Given the description of an element on the screen output the (x, y) to click on. 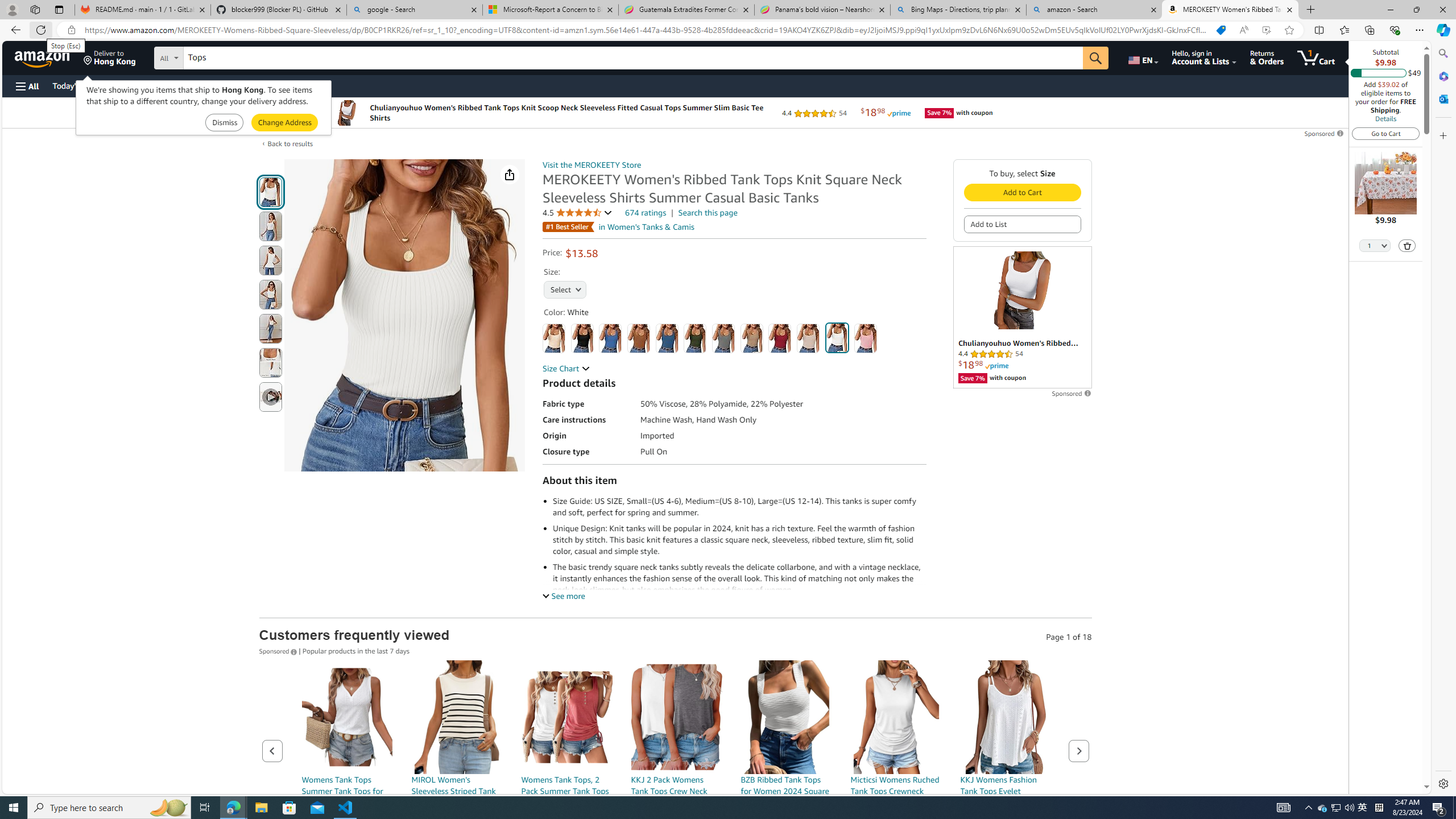
Pink (865, 338)
Khaki (751, 338)
Green (695, 338)
#1 Best Seller in Women's Tanks & Camis (618, 226)
Amazon (43, 57)
Sell (290, 85)
Prime (996, 365)
Gift Cards (251, 85)
